Given the description of an element on the screen output the (x, y) to click on. 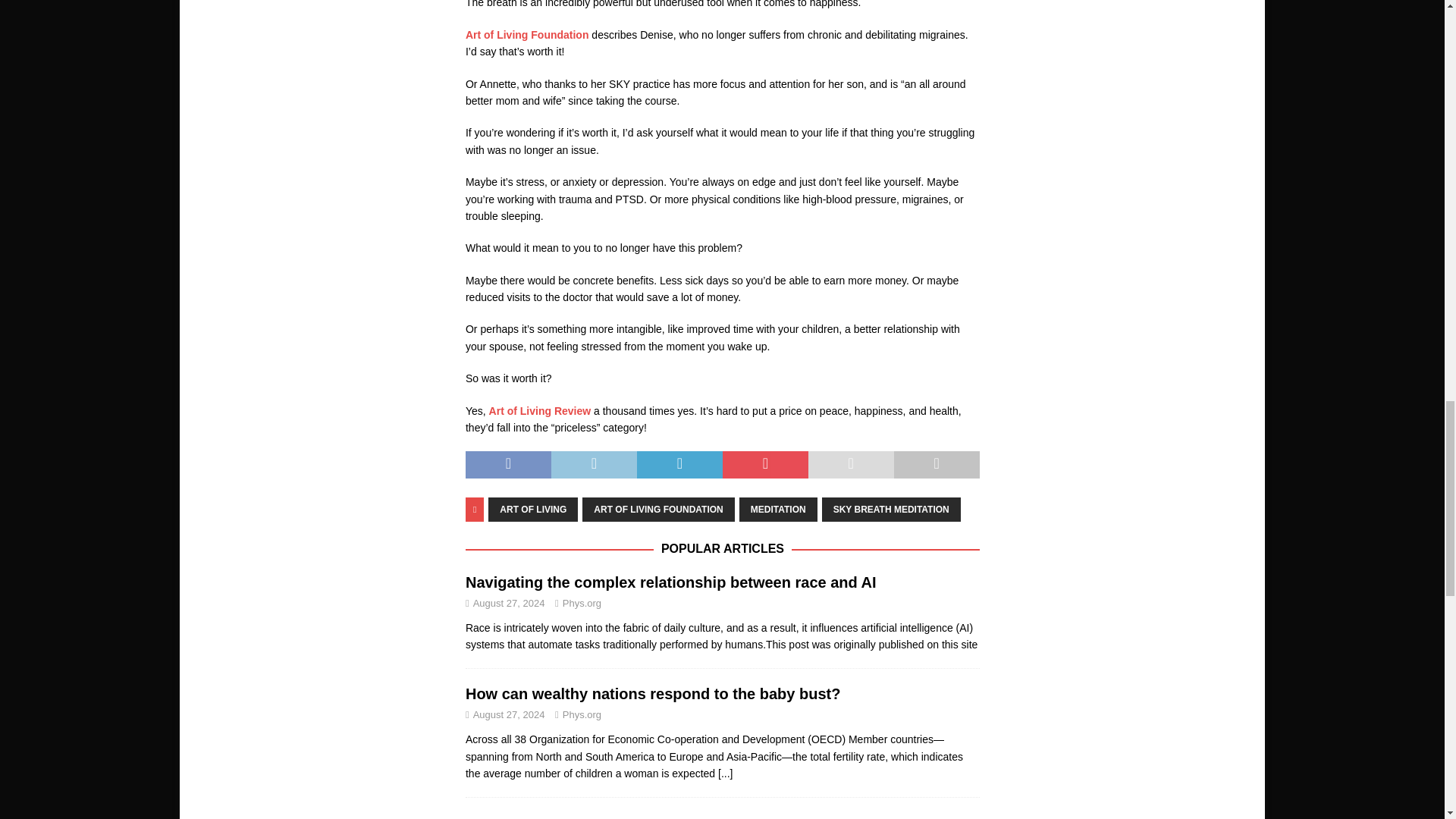
SKY BREATH MEDITATION (891, 509)
August 27, 2024 (508, 714)
MEDITATION (777, 509)
Phys.org (581, 603)
Art of Living Foundation (527, 34)
How can wealthy nations respond to the baby bust? (653, 693)
Art of Living Review (540, 410)
POPULAR ARTICLES (722, 548)
Phys.org (581, 714)
August 27, 2024 (508, 603)
